Given the description of an element on the screen output the (x, y) to click on. 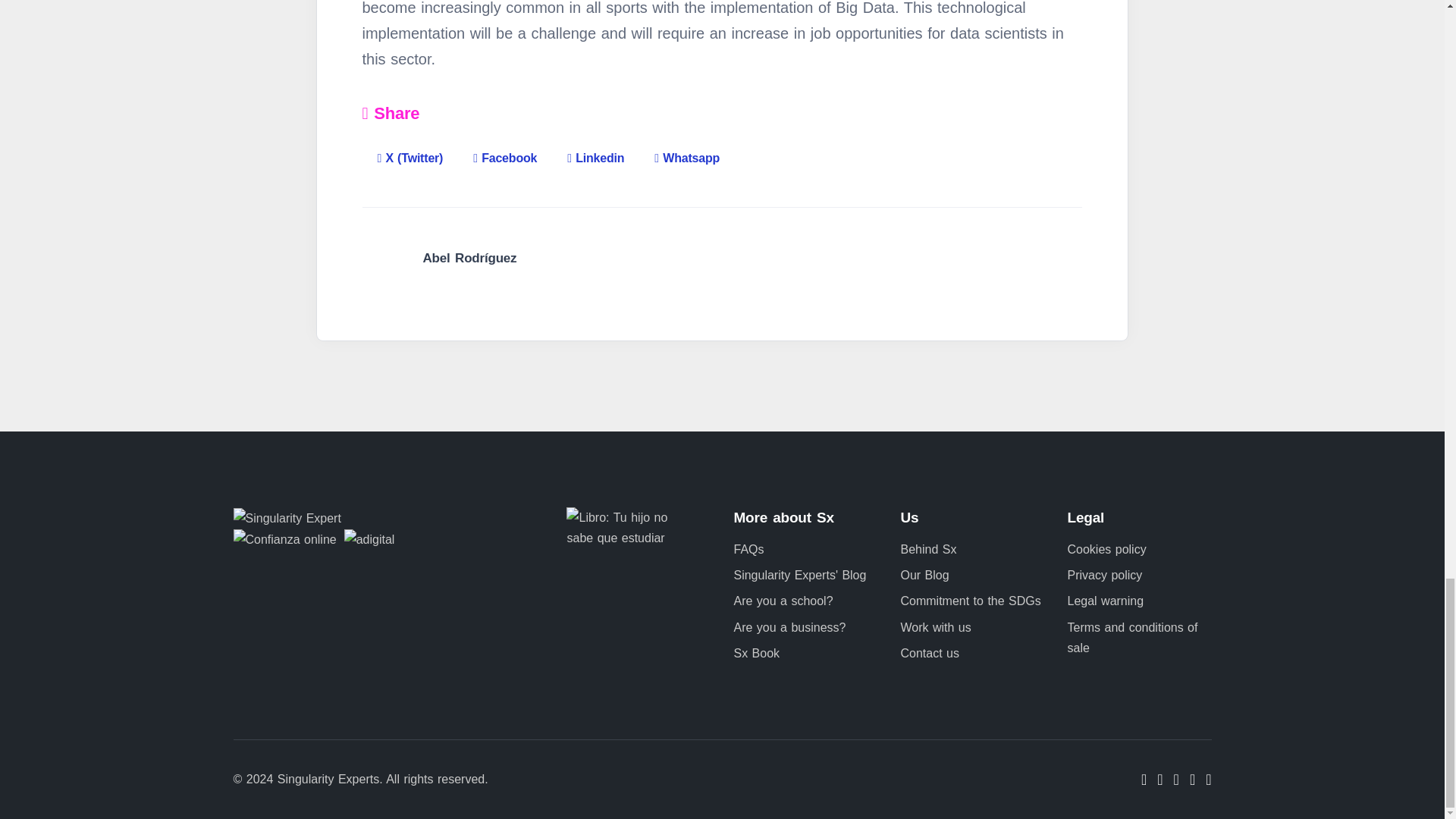
Whatsapp (687, 146)
Facebook (504, 146)
Linkedin (595, 146)
FAQs (747, 549)
